Given the description of an element on the screen output the (x, y) to click on. 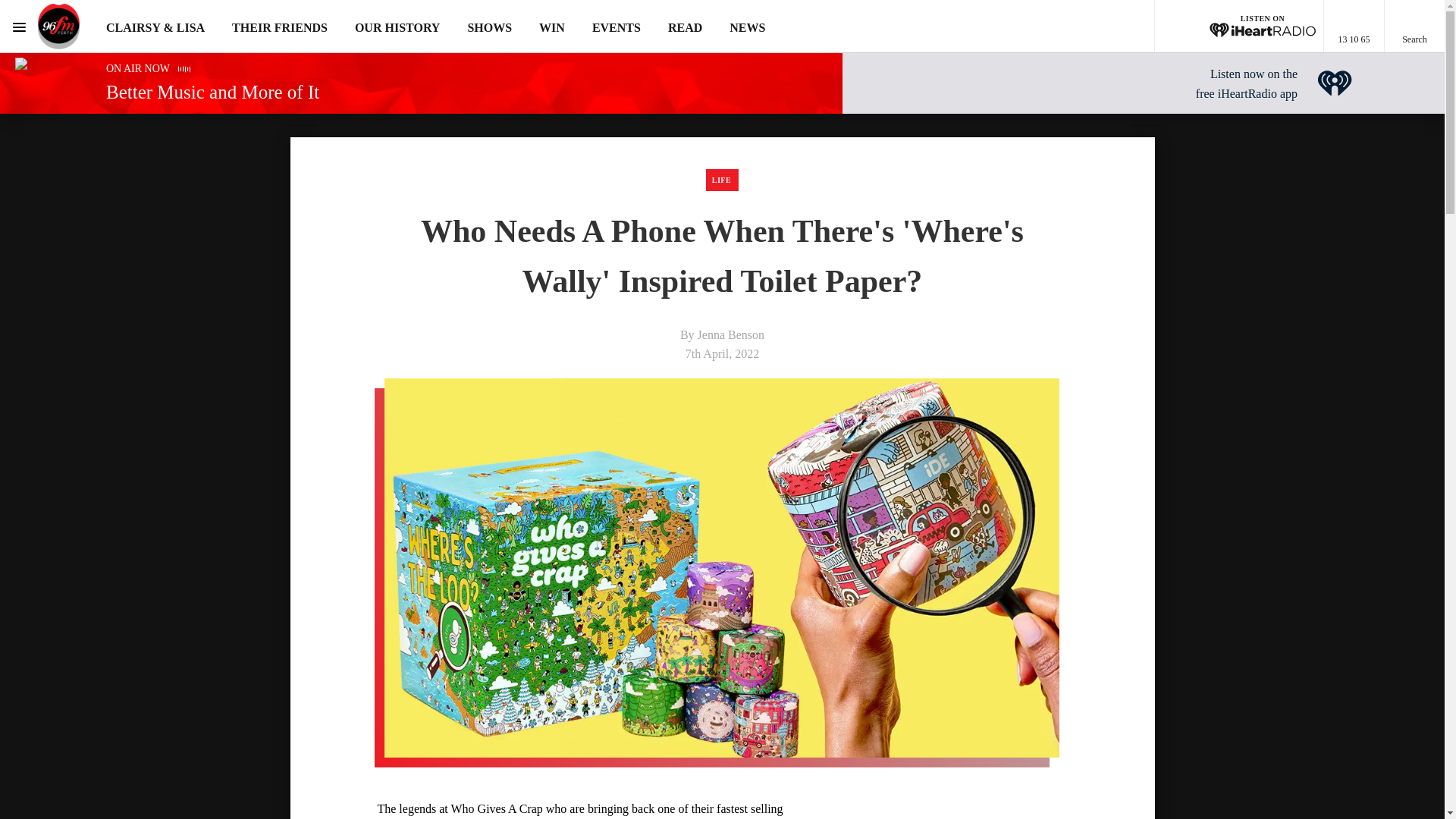
iHeart (1334, 82)
THEIR FRIENDS (279, 26)
EVENTS (616, 26)
OUR HISTORY (398, 26)
13 10 65 (1353, 26)
LISTEN ON (1238, 26)
